Given the description of an element on the screen output the (x, y) to click on. 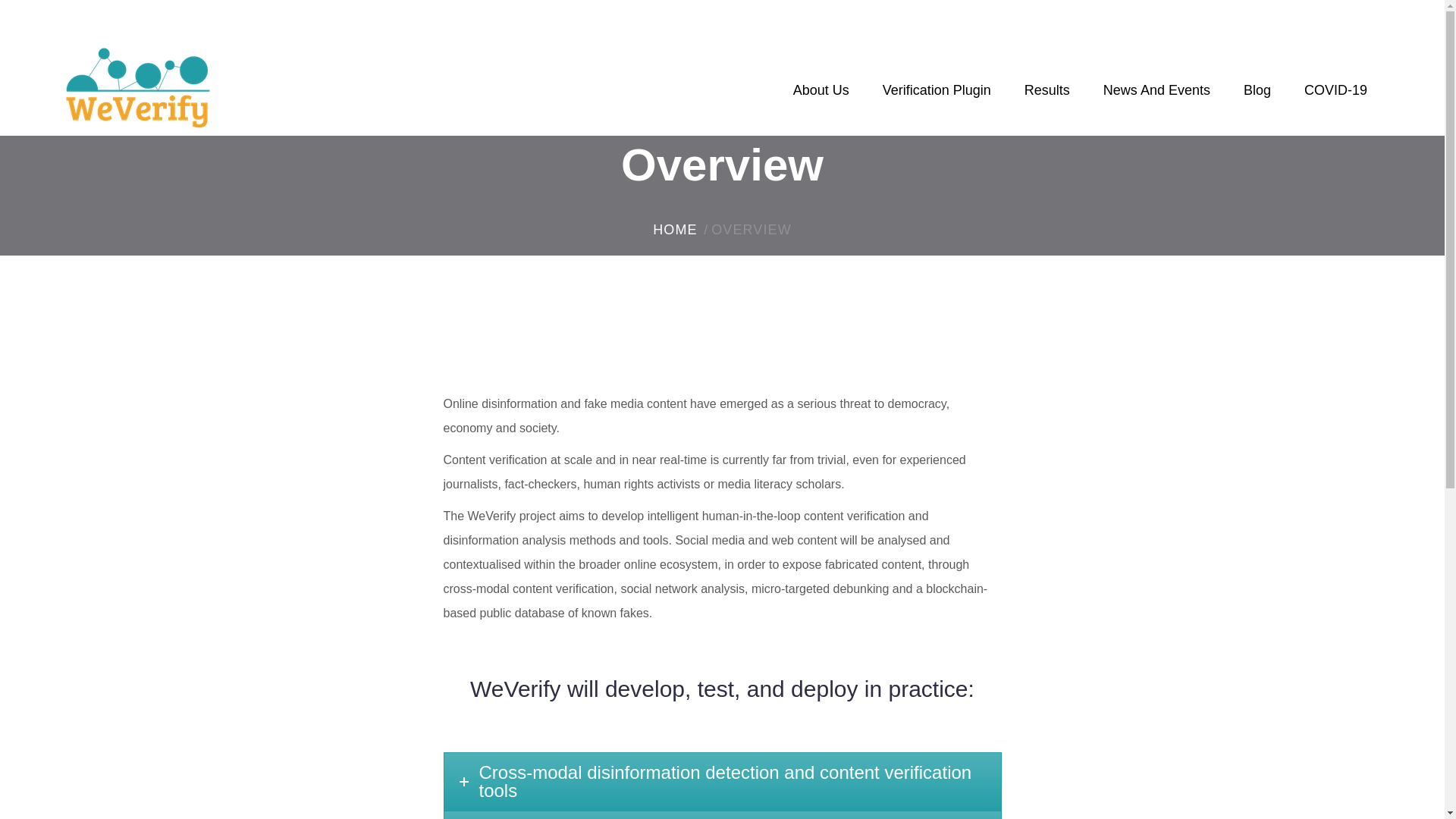
Results (1047, 98)
COVID-19 (1335, 98)
Results (1047, 98)
HOME (674, 230)
News And Events (1156, 98)
Verification plugin (936, 98)
About Us (820, 98)
Verification Plugin (936, 98)
About us (820, 98)
